Given the description of an element on the screen output the (x, y) to click on. 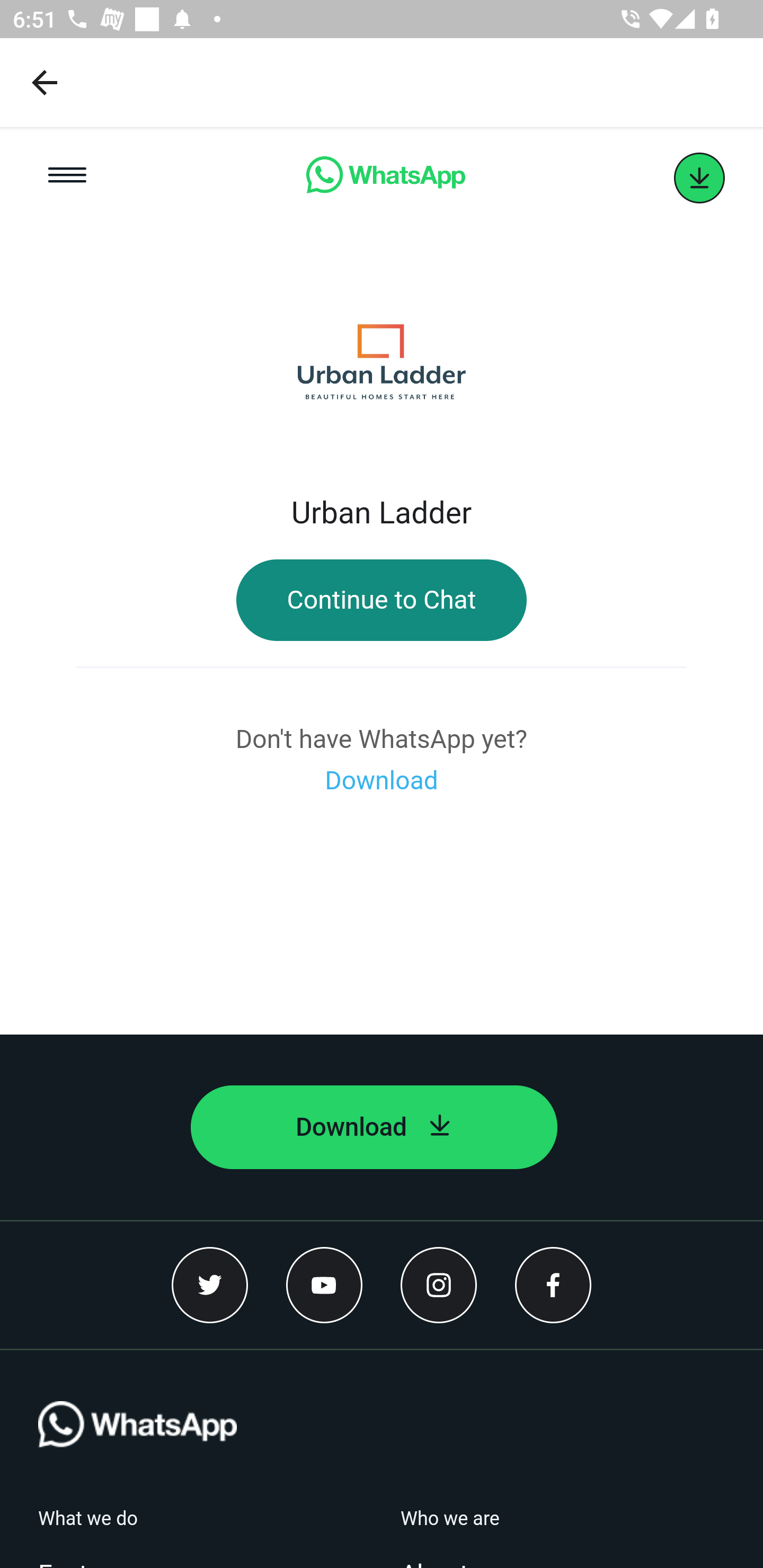
Navigate up (44, 82)
Open mobile menu (67, 177)
details?id=com (698, 177)
WhatsApp Main Page (385, 177)
Continue to Chat (381, 600)
Download (381, 780)
Download (373, 1127)
Twitter (209, 1284)
Youtube (324, 1284)
Instagram (438, 1284)
Facebook (553, 1284)
WhatsApp Main Logo (137, 1453)
